Given the description of an element on the screen output the (x, y) to click on. 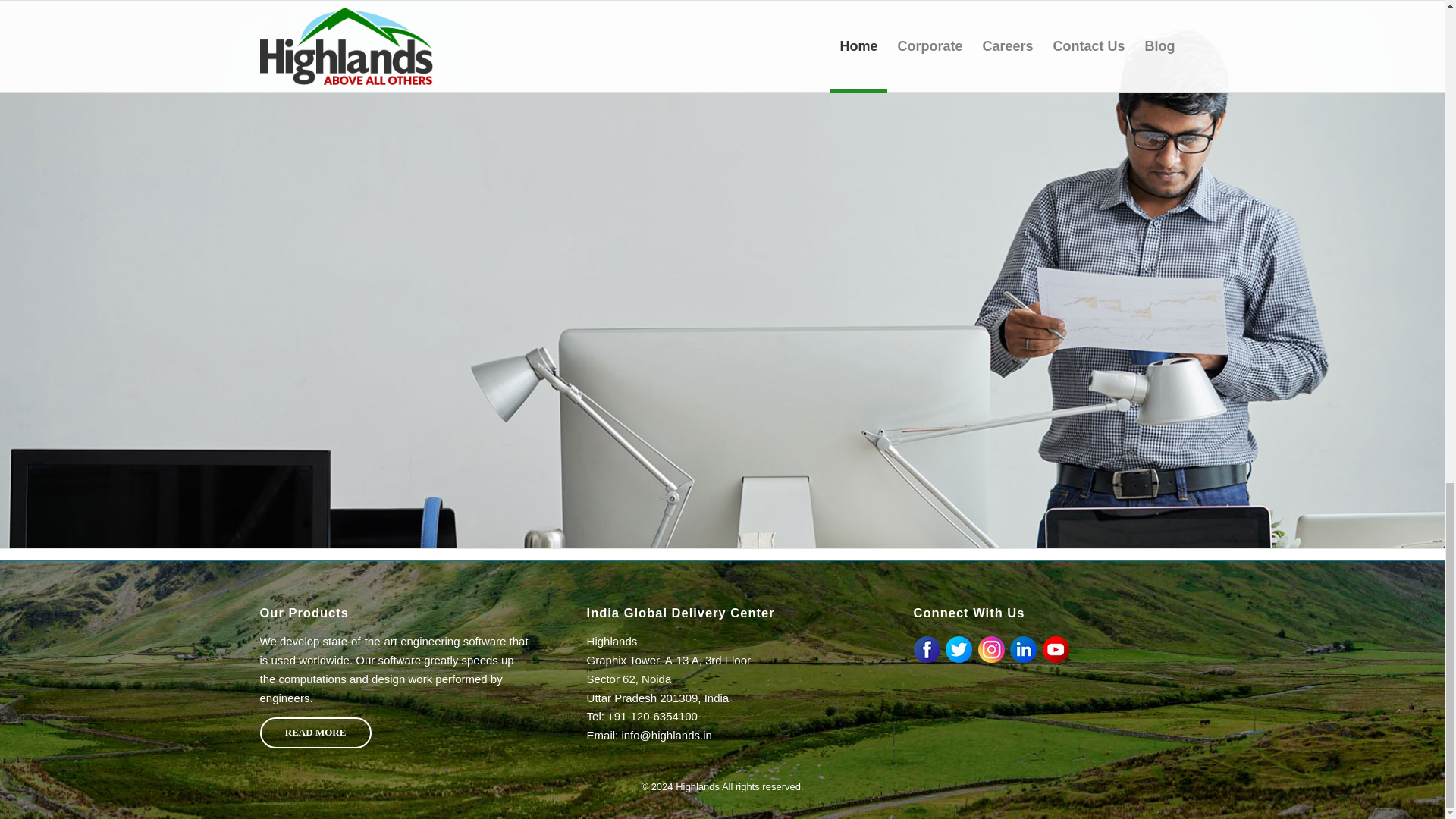
READ MORE (315, 732)
